Given the description of an element on the screen output the (x, y) to click on. 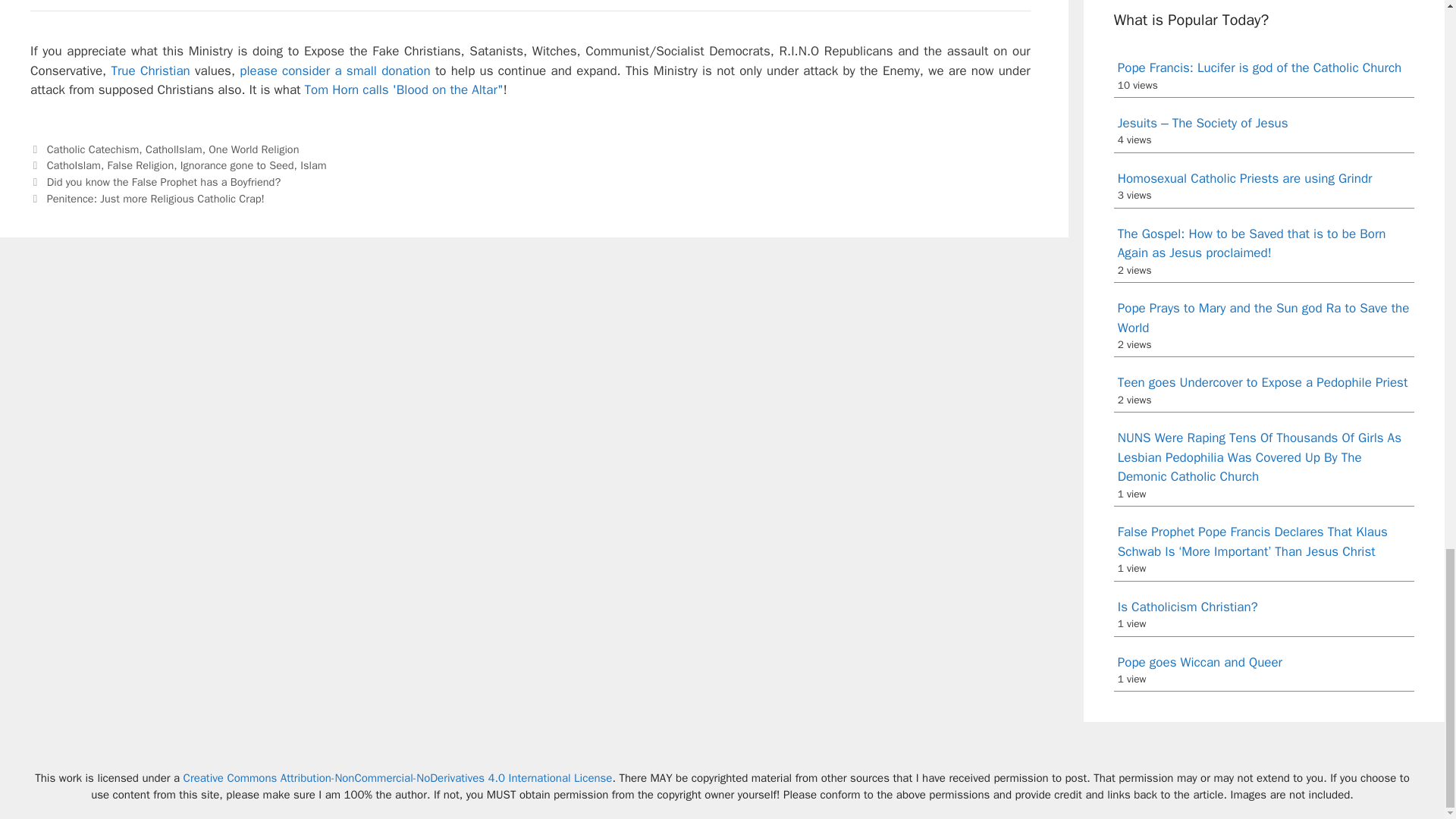
Ignorance gone to Seed (237, 164)
Islam (312, 164)
Tom Horn calls 'Blood on the Altar" (403, 89)
CathoIslam (73, 164)
Catholic Catechism (92, 149)
True Christian (149, 70)
please consider a small donation (334, 70)
False Religion (140, 164)
Did you know the False Prophet has a Boyfriend? (163, 182)
What is a True Christian (149, 70)
CatholIslam (173, 149)
One World Religion (253, 149)
